Given the description of an element on the screen output the (x, y) to click on. 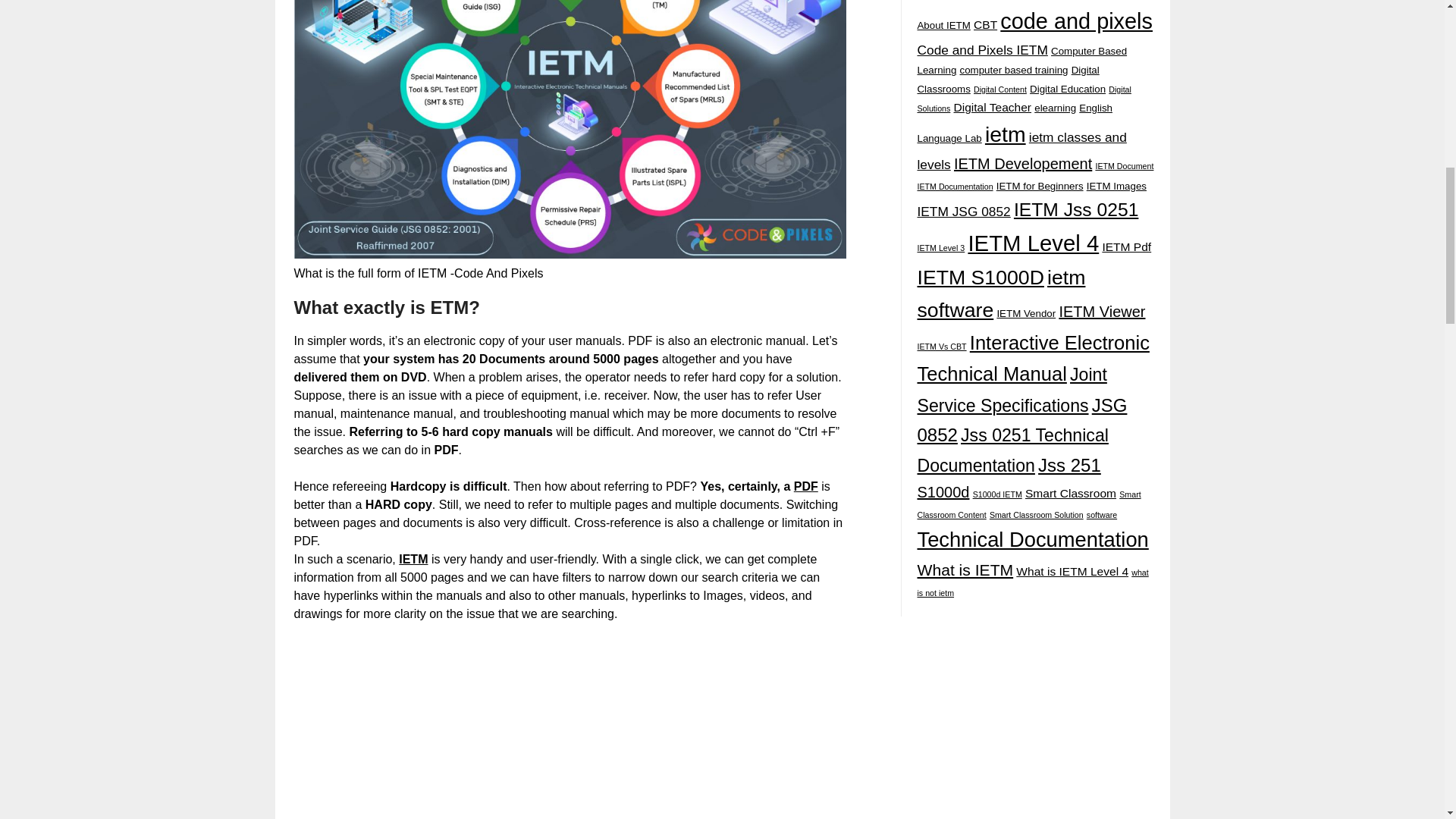
code and pixels (1076, 21)
Computer Based Learning (1021, 60)
computer based training (1013, 70)
CBT (985, 24)
Code and Pixels IETM (981, 49)
PDF (805, 486)
About IETM (943, 25)
IETM (413, 558)
Digital Classrooms (1008, 79)
